Given the description of an element on the screen output the (x, y) to click on. 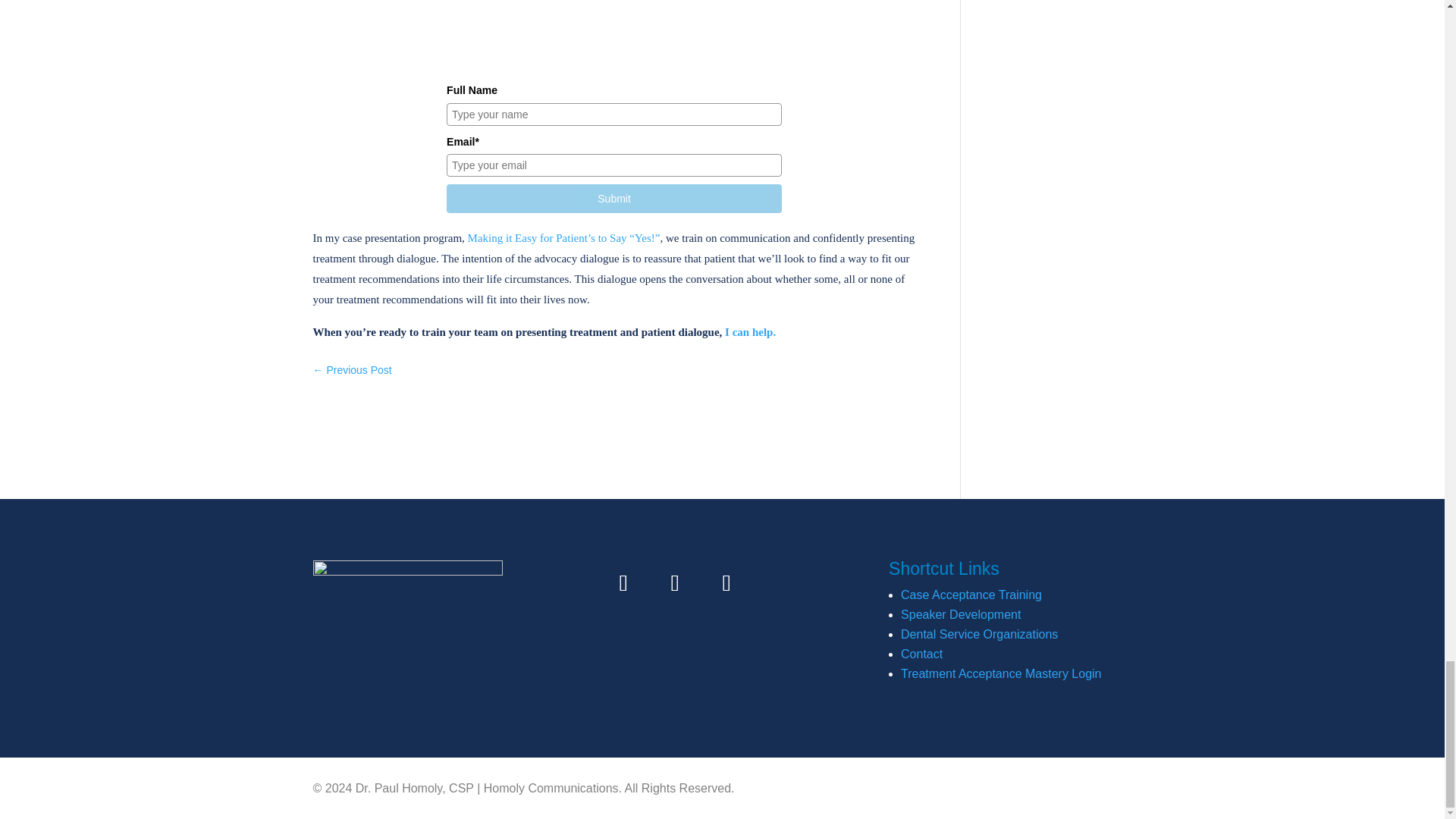
Follow on LinkedIn (674, 583)
Follow on Facebook (622, 583)
Follow on Youtube (726, 583)
logo-color-r-250 (407, 586)
